Given the description of an element on the screen output the (x, y) to click on. 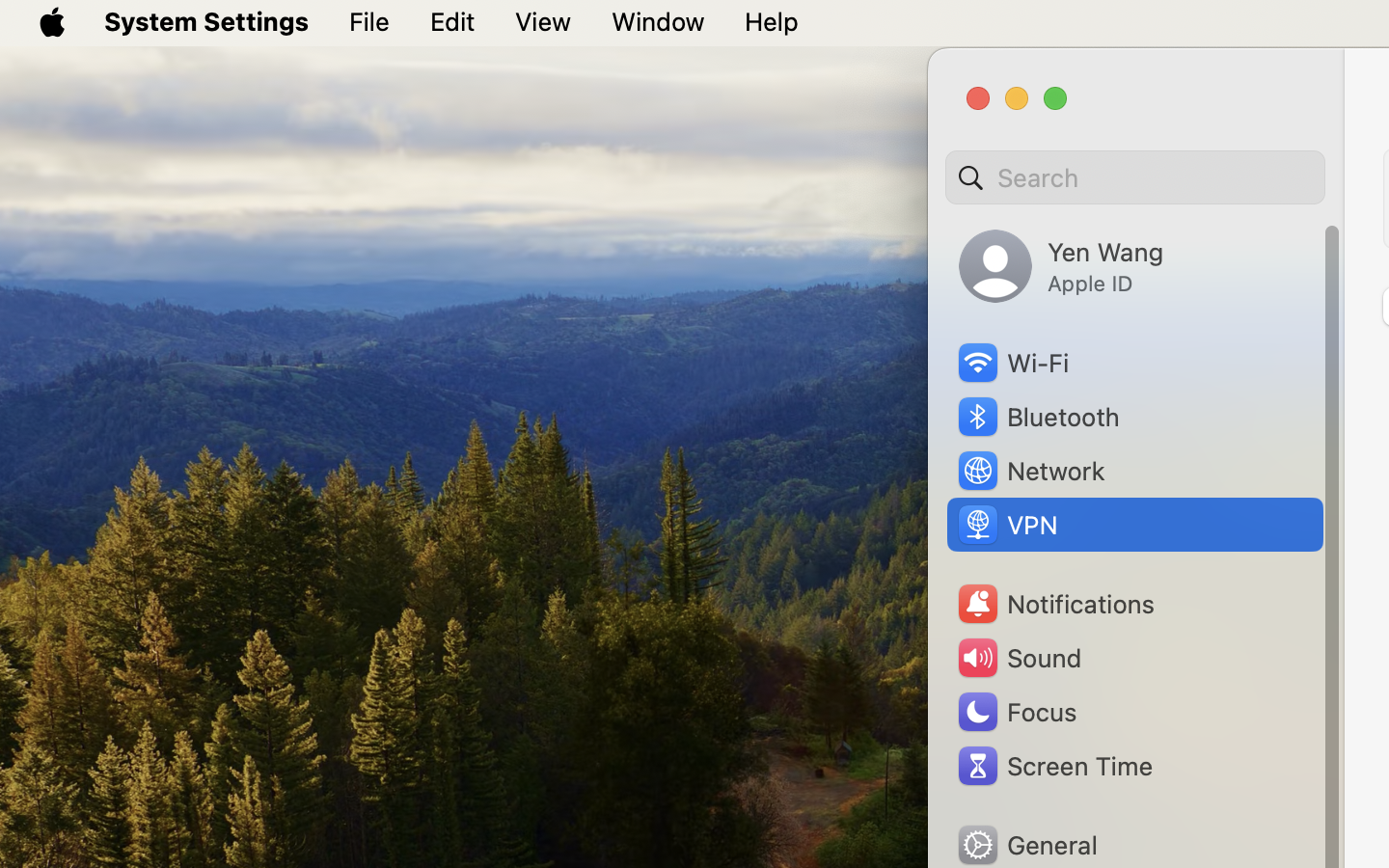
Screen Time Element type: AXStaticText (1053, 765)
Yen Wang, Apple ID Element type: AXStaticText (1060, 265)
Focus Element type: AXStaticText (1015, 711)
Bluetooth Element type: AXStaticText (1037, 416)
Sound Element type: AXStaticText (1018, 657)
